Given the description of an element on the screen output the (x, y) to click on. 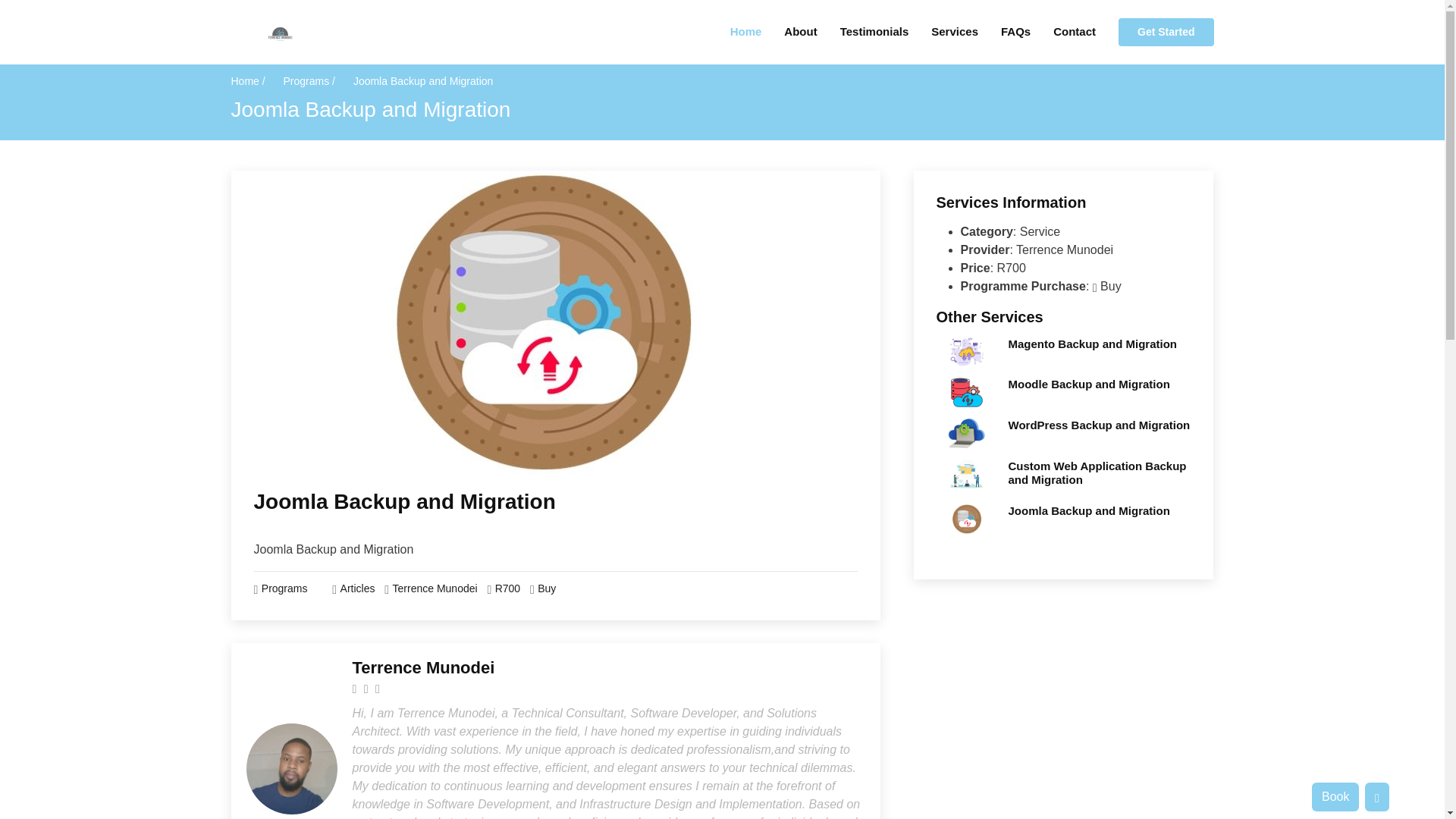
WordPress Backup and Migration (1100, 424)
Contact (1063, 31)
Terrence Munodei (435, 588)
Buy (546, 588)
Services (943, 31)
R700 (507, 588)
Joomla Backup and Migration (403, 501)
Home (734, 31)
Contact (1063, 31)
Magento Backup and Migration (1093, 343)
